Given the description of an element on the screen output the (x, y) to click on. 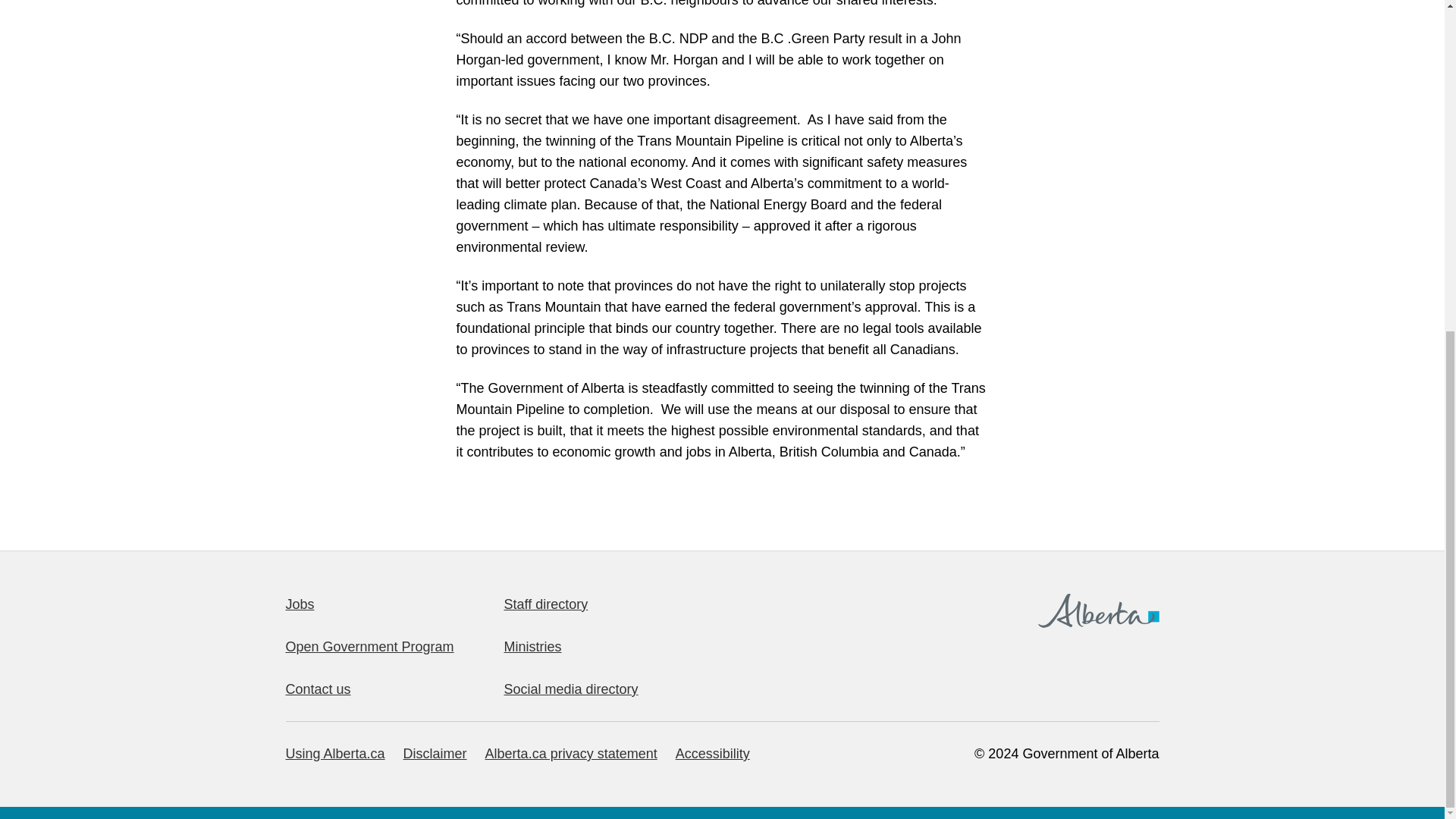
Open Government Program (368, 646)
Contact us (317, 688)
Staff directory (545, 604)
Disclaimer (435, 753)
Accessibility (712, 753)
Jobs (299, 604)
Using Alberta.ca (334, 753)
Alberta.ca privacy statement (571, 753)
Ministries (531, 646)
Social media directory (570, 688)
